Given the description of an element on the screen output the (x, y) to click on. 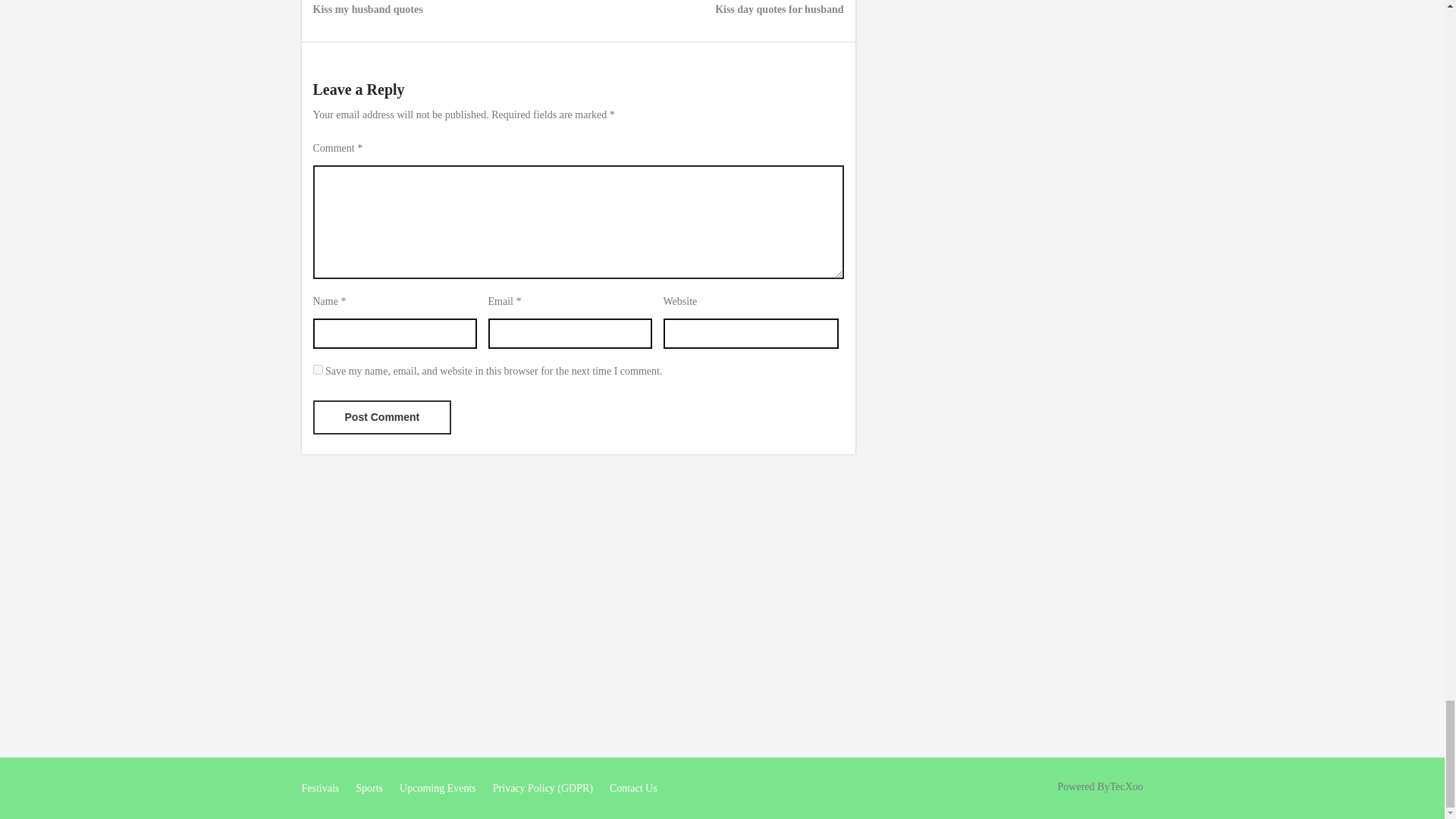
Post Comment (382, 417)
yes (317, 369)
